Given the description of an element on the screen output the (x, y) to click on. 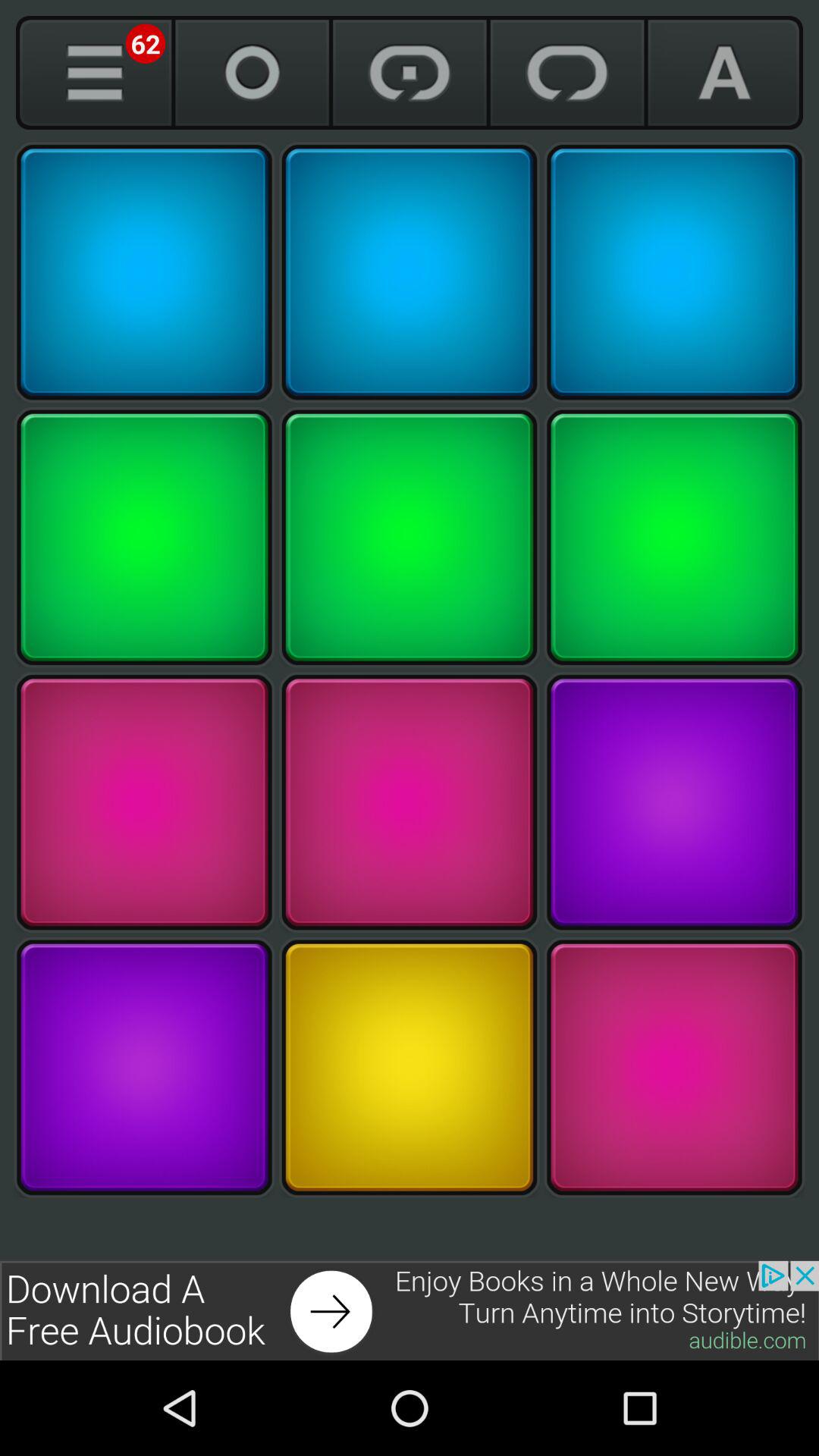
play the sound associated with this square (409, 272)
